Given the description of an element on the screen output the (x, y) to click on. 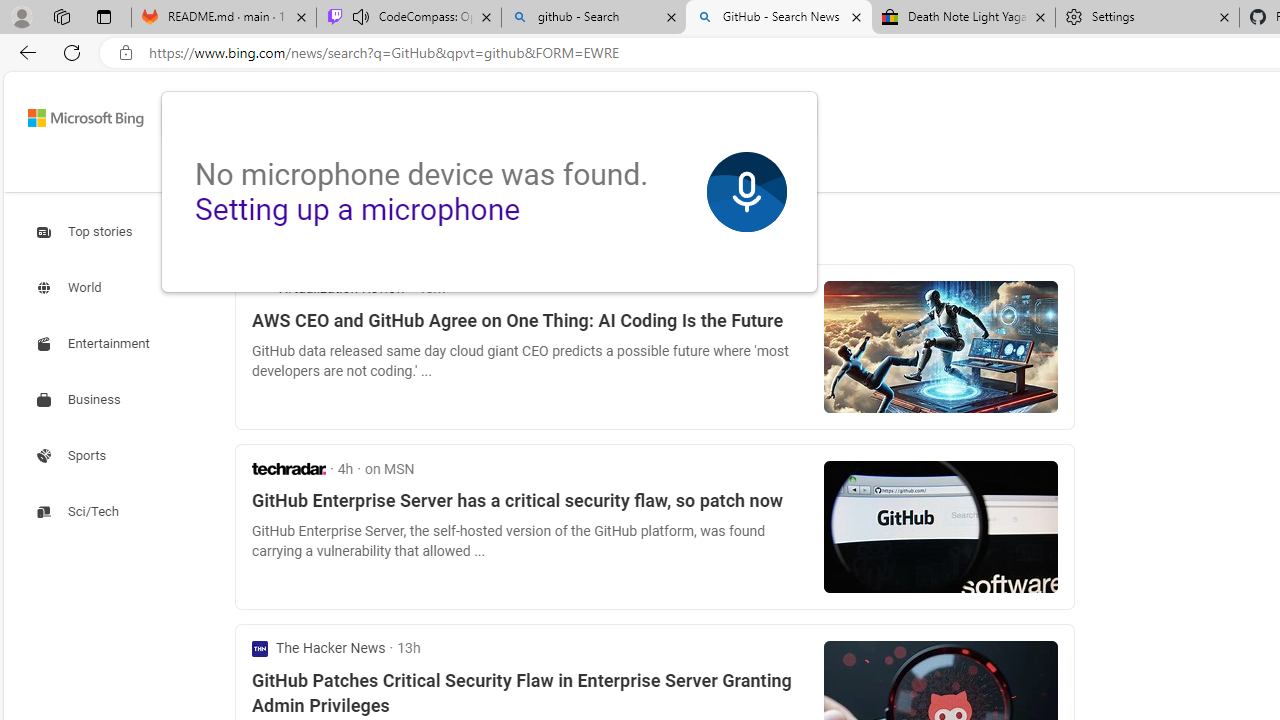
Close tab (1224, 16)
Best match (401, 232)
Dropdown Menu (696, 170)
Search news about Sci/Tech (80, 511)
Search news from Virtualization Review (328, 288)
Back (24, 52)
